Given the description of an element on the screen output the (x, y) to click on. 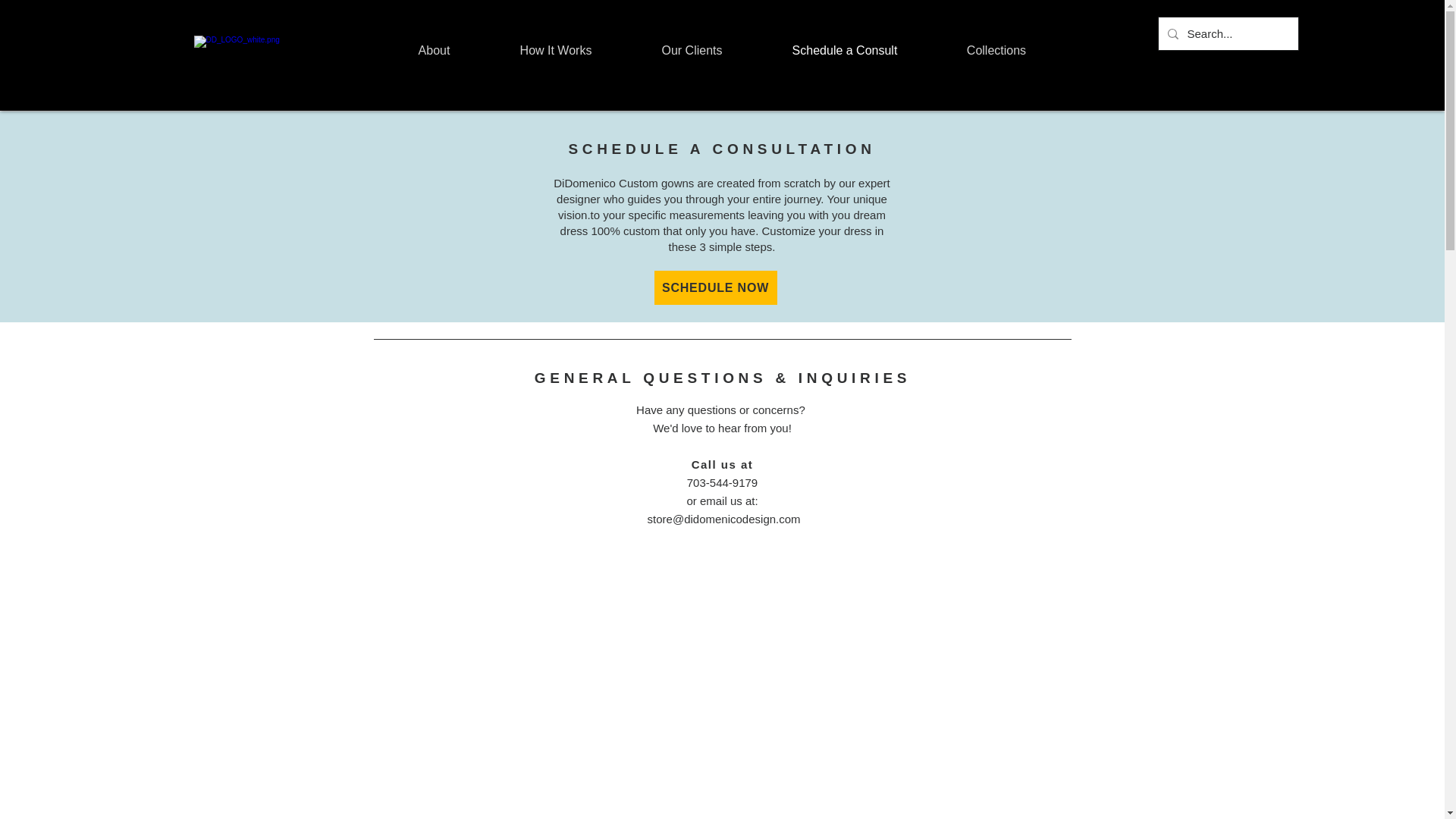
SCHEDULE NOW (714, 287)
Our Clients (691, 49)
How It Works (555, 49)
Schedule a Consult (844, 49)
Collections (997, 49)
About (434, 49)
